Given the description of an element on the screen output the (x, y) to click on. 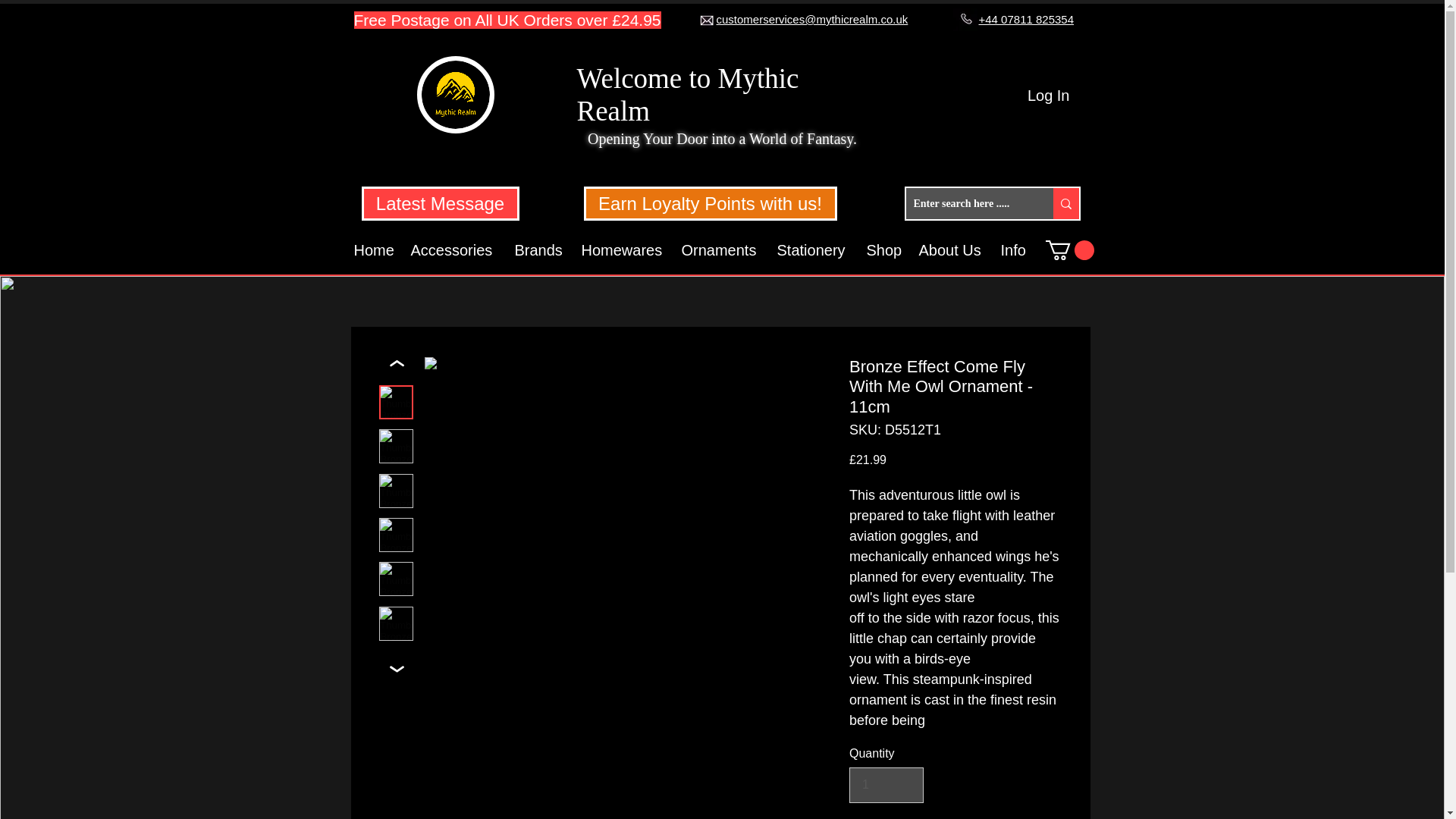
1 (885, 784)
Latest Message (439, 203)
Log In (1048, 95)
Ornaments (720, 250)
Earn Loyalty Points with us! (710, 203)
Home (374, 250)
